Given the description of an element on the screen output the (x, y) to click on. 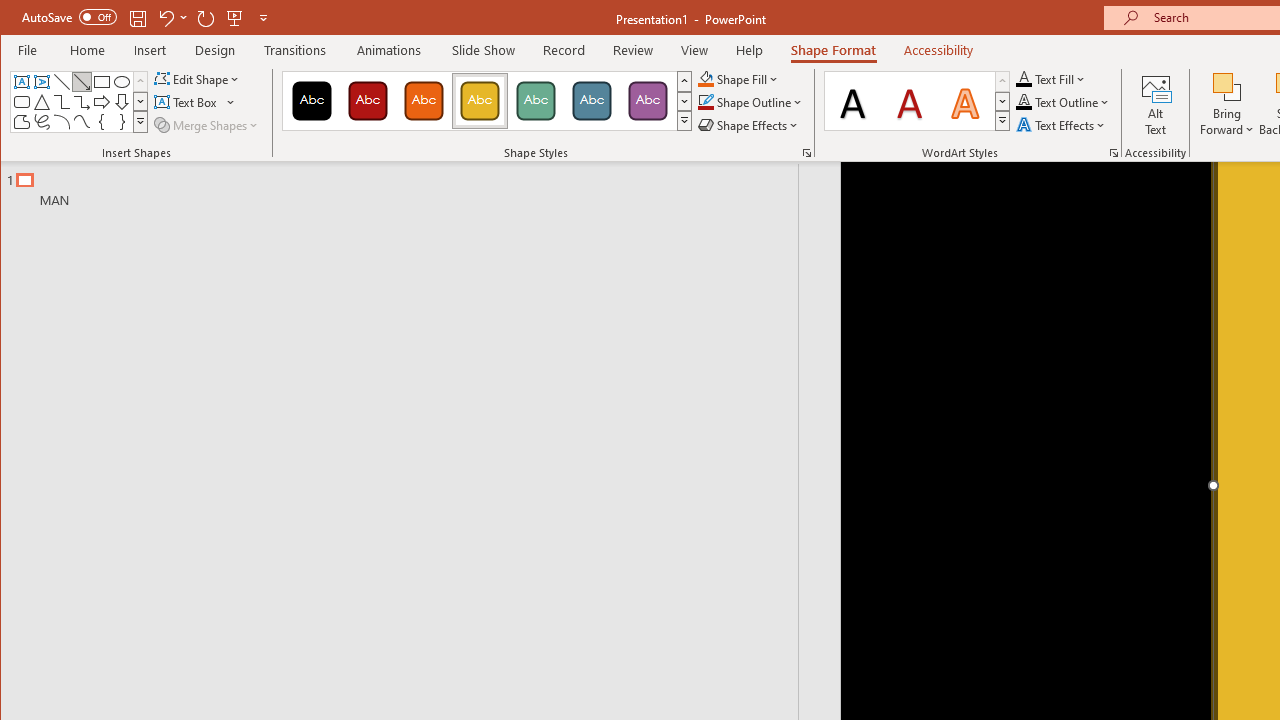
Arc (61, 121)
Left Brace (102, 121)
AutomationID: ShapesInsertGallery (79, 102)
Arrow: Down (121, 102)
Text Fill (1051, 78)
Line (61, 82)
Fill: Dark Red, Accent color 1; Shadow (909, 100)
